Given the description of an element on the screen output the (x, y) to click on. 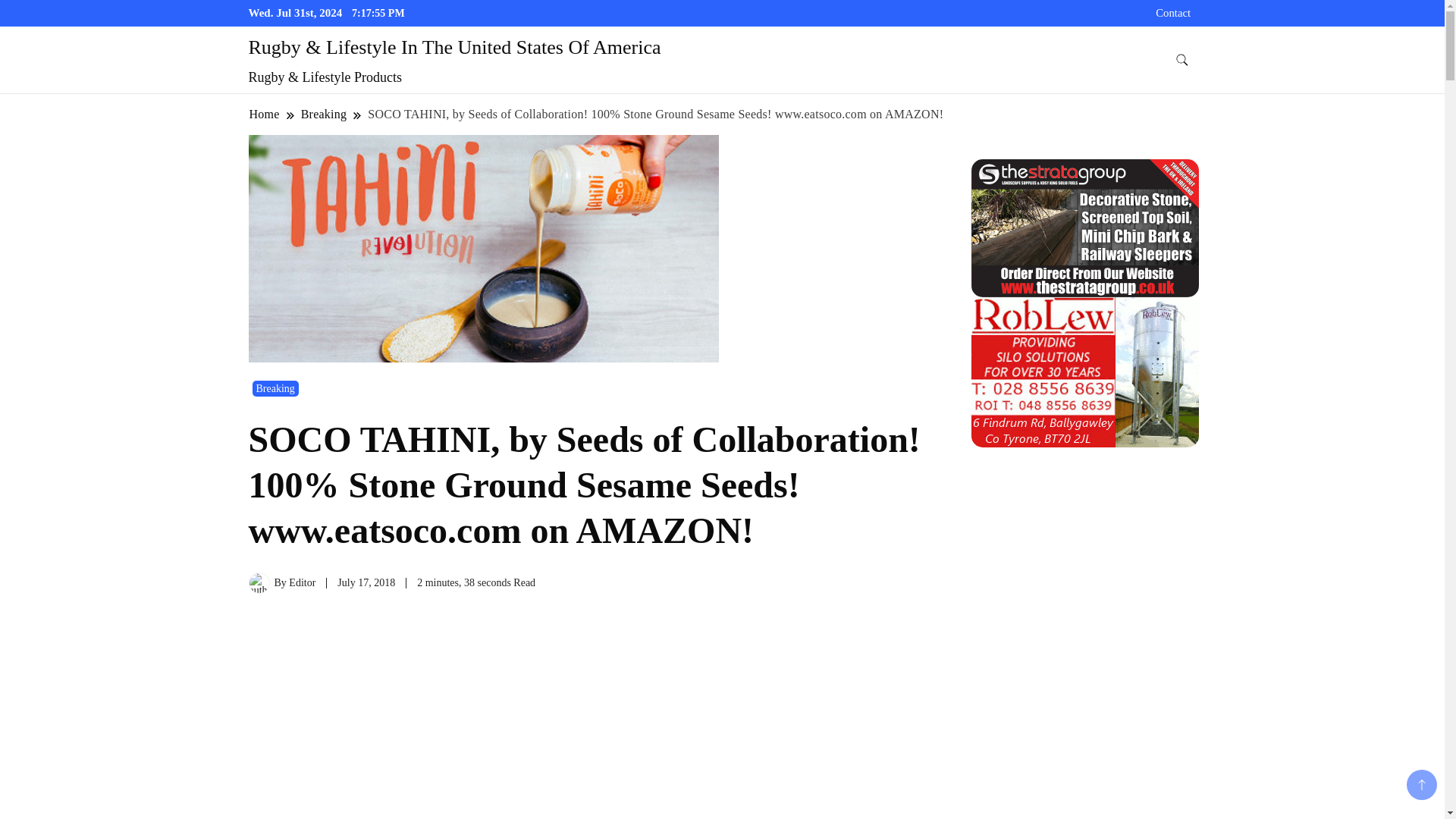
Contact (1173, 12)
Breaking (323, 114)
Breaking (274, 388)
Home (264, 114)
July 17, 2018 (365, 582)
Editor (301, 582)
